Given the description of an element on the screen output the (x, y) to click on. 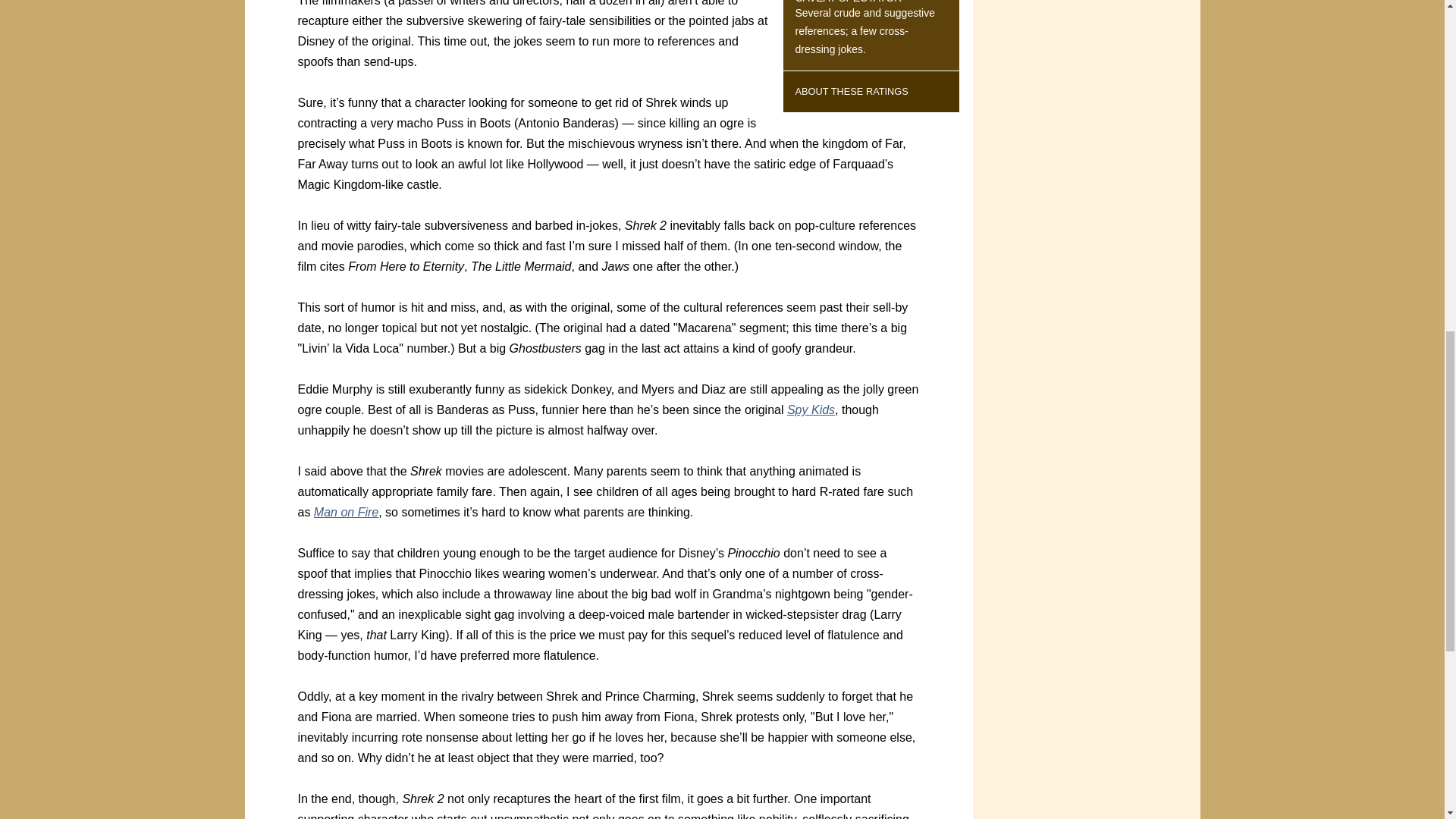
Spy Kids (810, 409)
Man on Fire (346, 512)
ABOUT THESE RATINGS (850, 91)
